Given the description of an element on the screen output the (x, y) to click on. 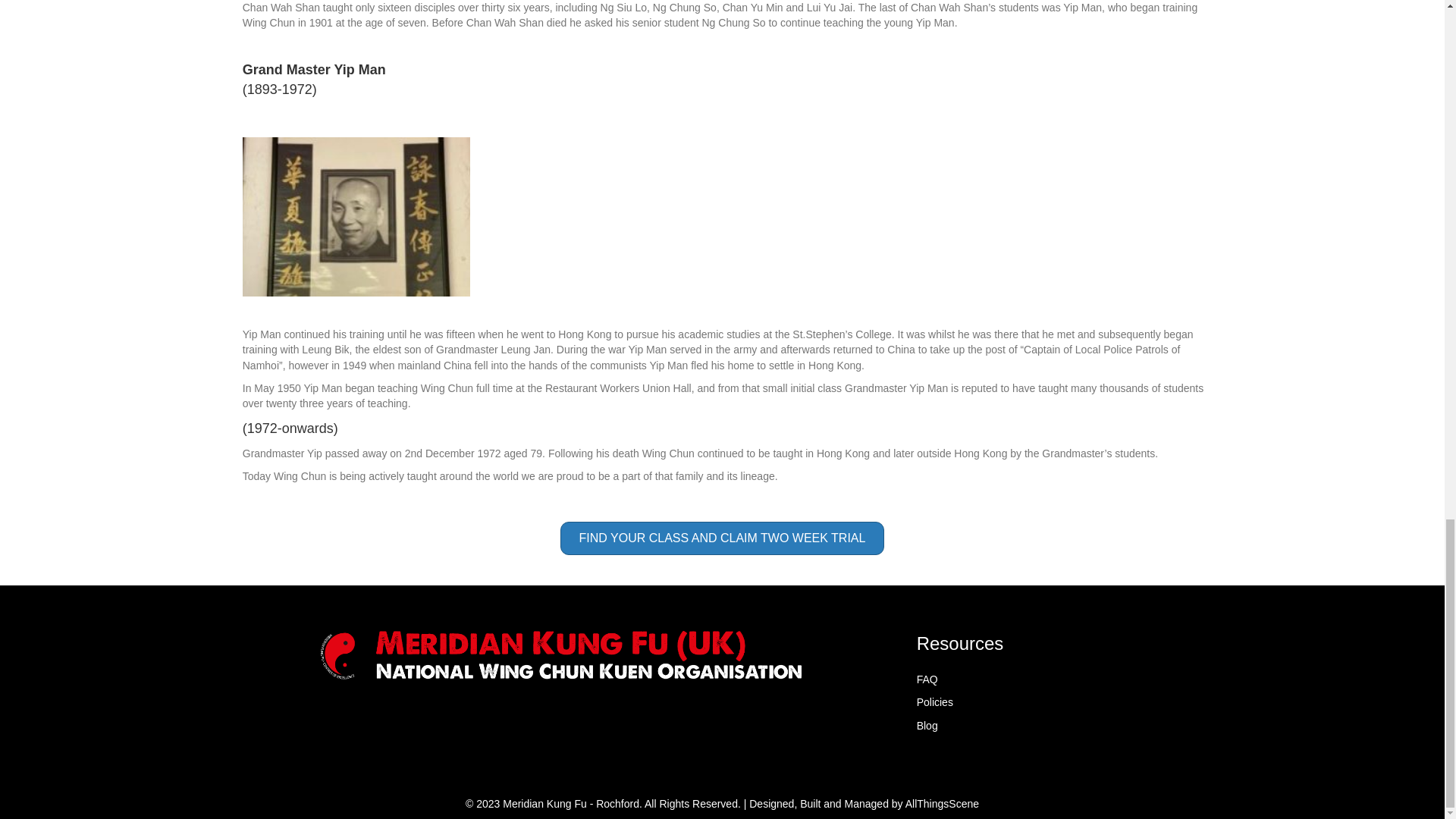
FAQ (927, 679)
Policies (935, 702)
AllThingsScene (941, 803)
FIND YOUR CLASS AND CLAIM TWO WEEK TRIAL (722, 538)
headerlogov444 (560, 654)
Blog (927, 725)
